Given the description of an element on the screen output the (x, y) to click on. 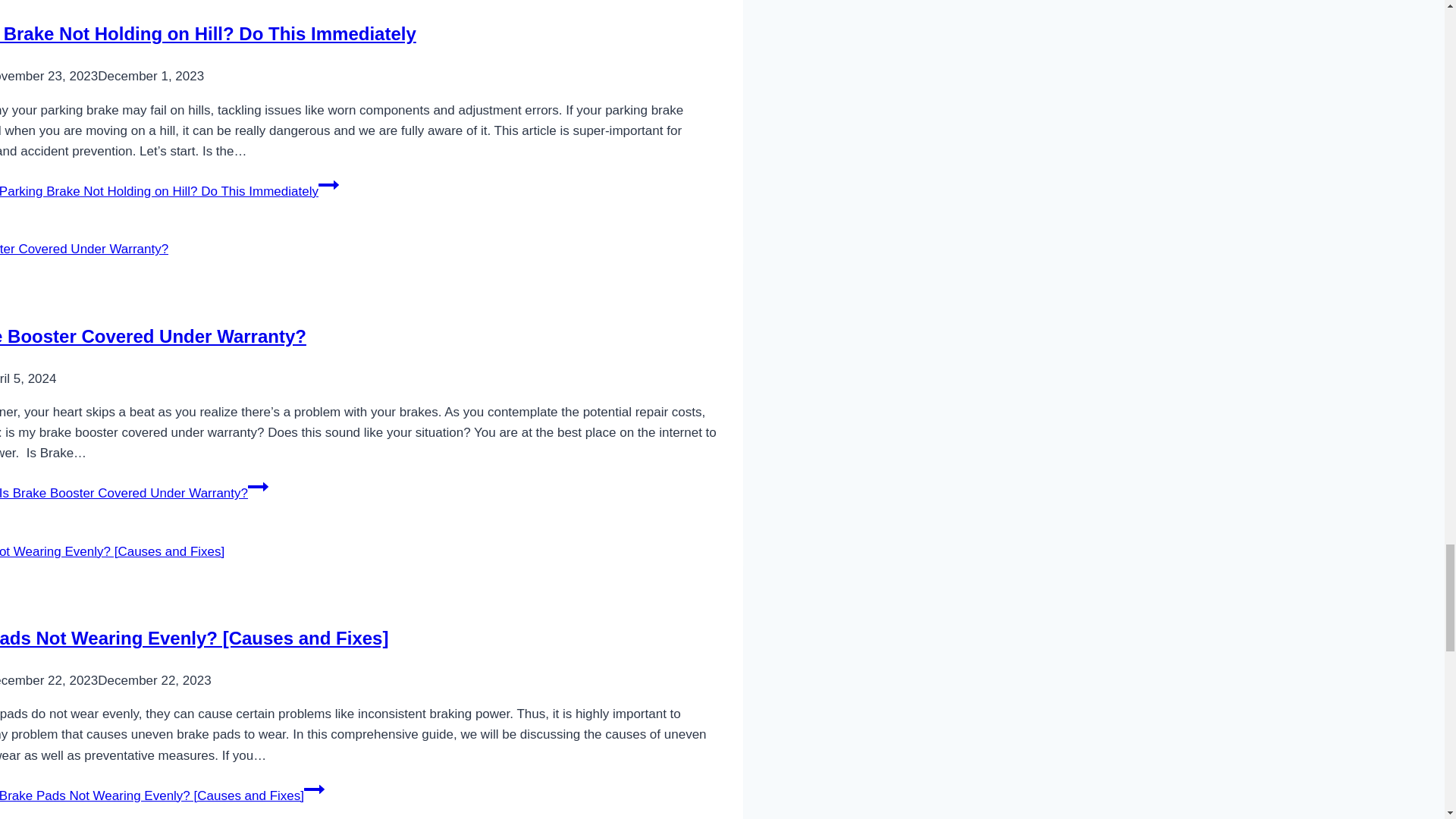
Continue (328, 184)
Parking Brake Not Holding on Hill? Do This Immediately (208, 33)
Continue (257, 486)
Continue (314, 789)
